Given the description of an element on the screen output the (x, y) to click on. 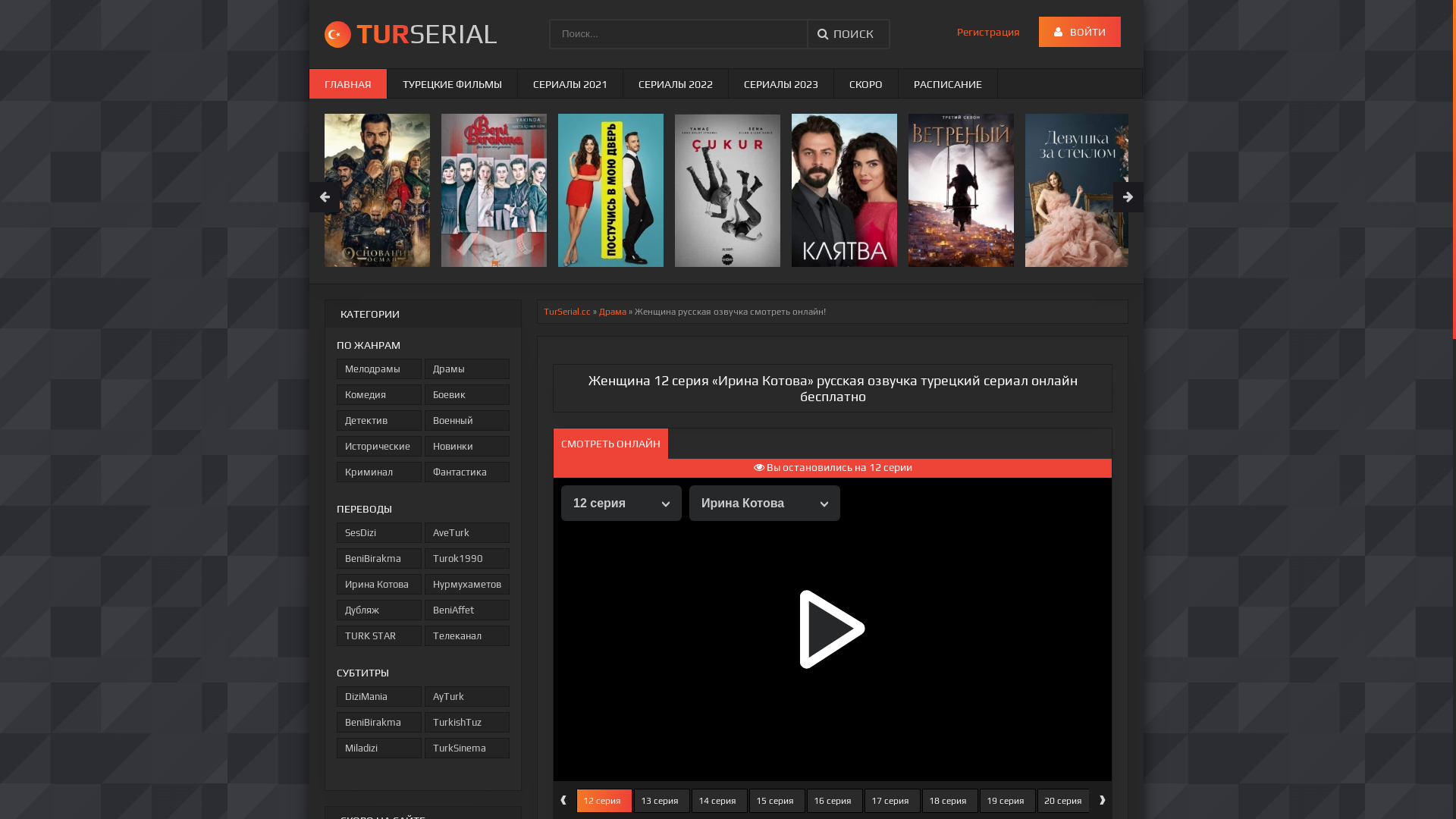
TurkishTuz Element type: text (466, 722)
BeniBirakma Element type: text (378, 558)
TurkSinema Element type: text (466, 747)
TurSerial.cc Element type: text (566, 311)
TURK STAR Element type: text (378, 635)
BeniBirakma Element type: text (378, 722)
AveTurk Element type: text (466, 532)
SesDizi Element type: text (378, 532)
DiziMania Element type: text (378, 696)
TURSERIAL Element type: text (403, 33)
BeniAffet Element type: text (466, 609)
AyTurk Element type: text (466, 696)
Miladizi Element type: text (378, 747)
Turok1990 Element type: text (466, 558)
